Given the description of an element on the screen output the (x, y) to click on. 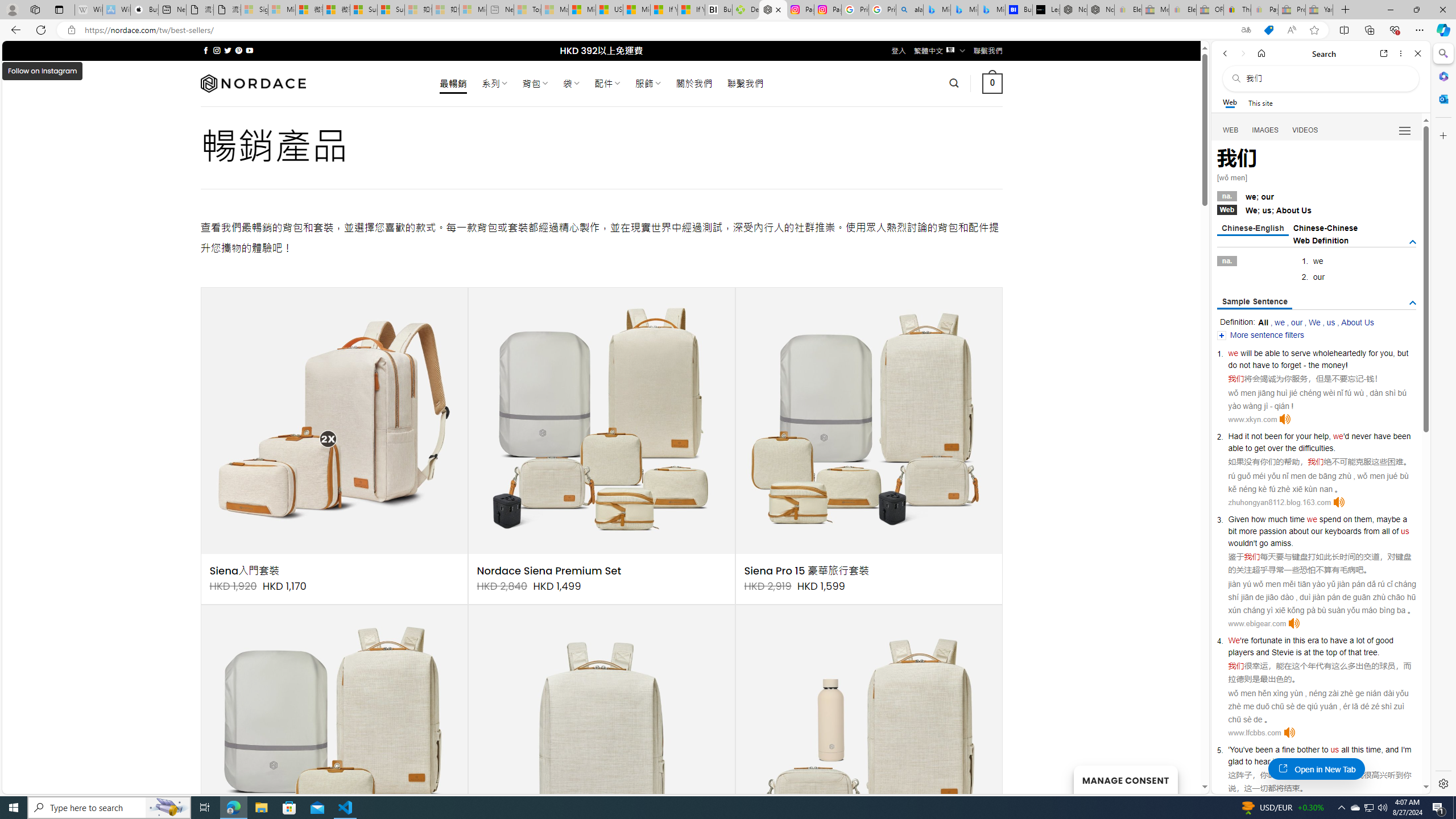
AutomationID: tgdef_sen (1412, 302)
a bit (1316, 524)
Us (1306, 209)
